Given the description of an element on the screen output the (x, y) to click on. 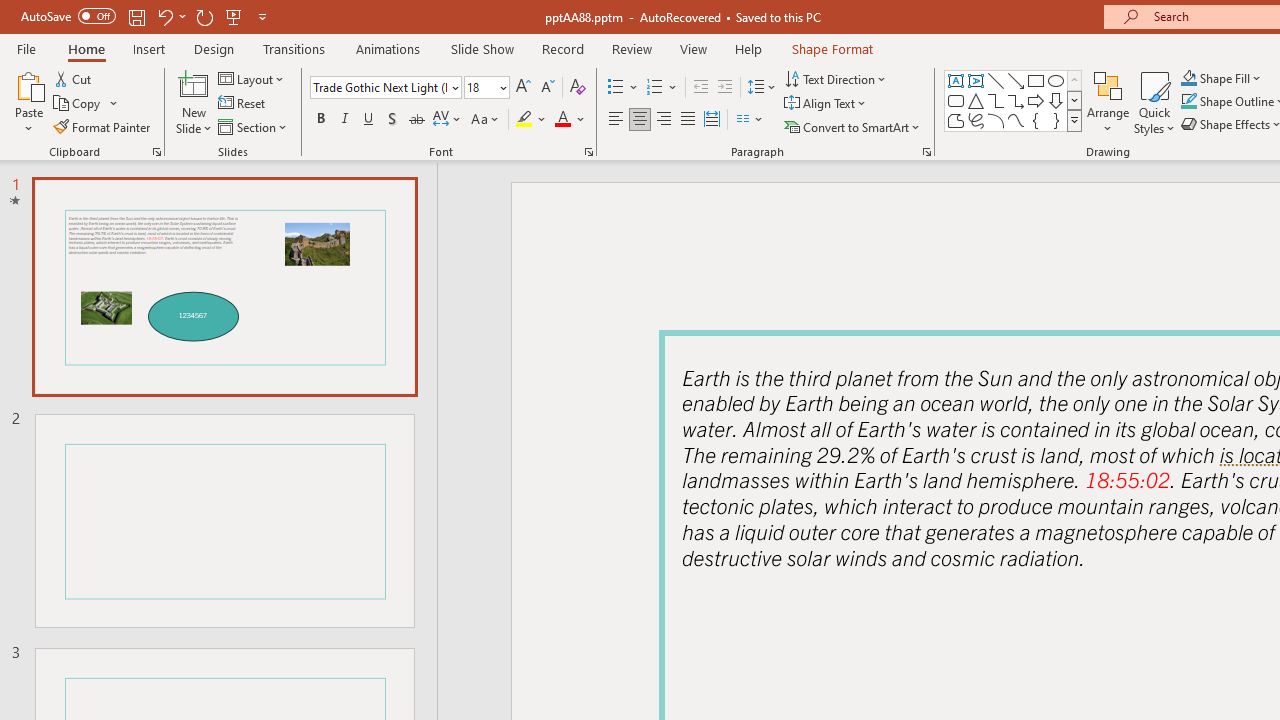
Shape Outline Teal, Accent 1 (1188, 101)
